Given the description of an element on the screen output the (x, y) to click on. 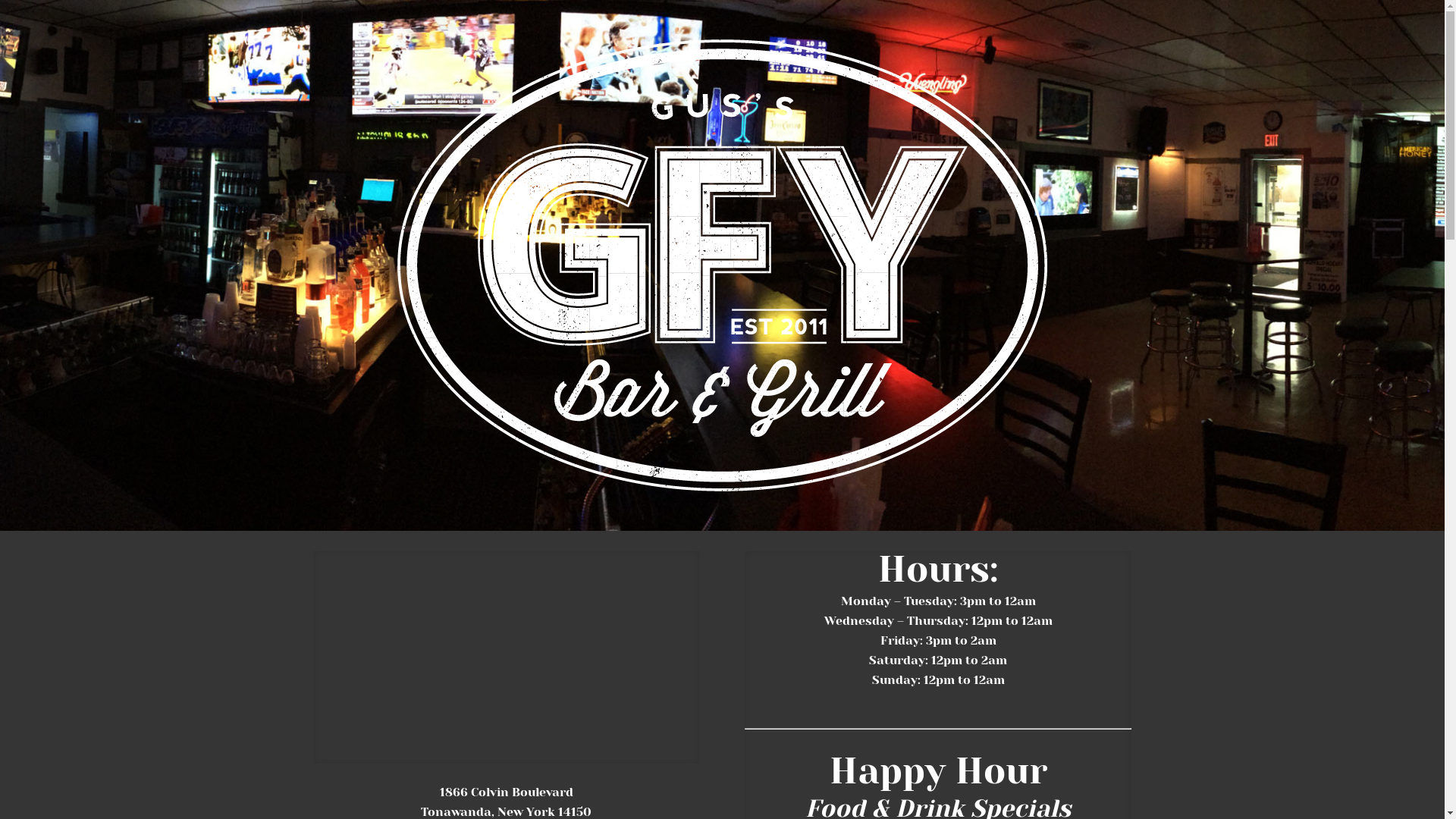
1866 Colvin Boulevard Element type: text (506, 791)
